Given the description of an element on the screen output the (x, y) to click on. 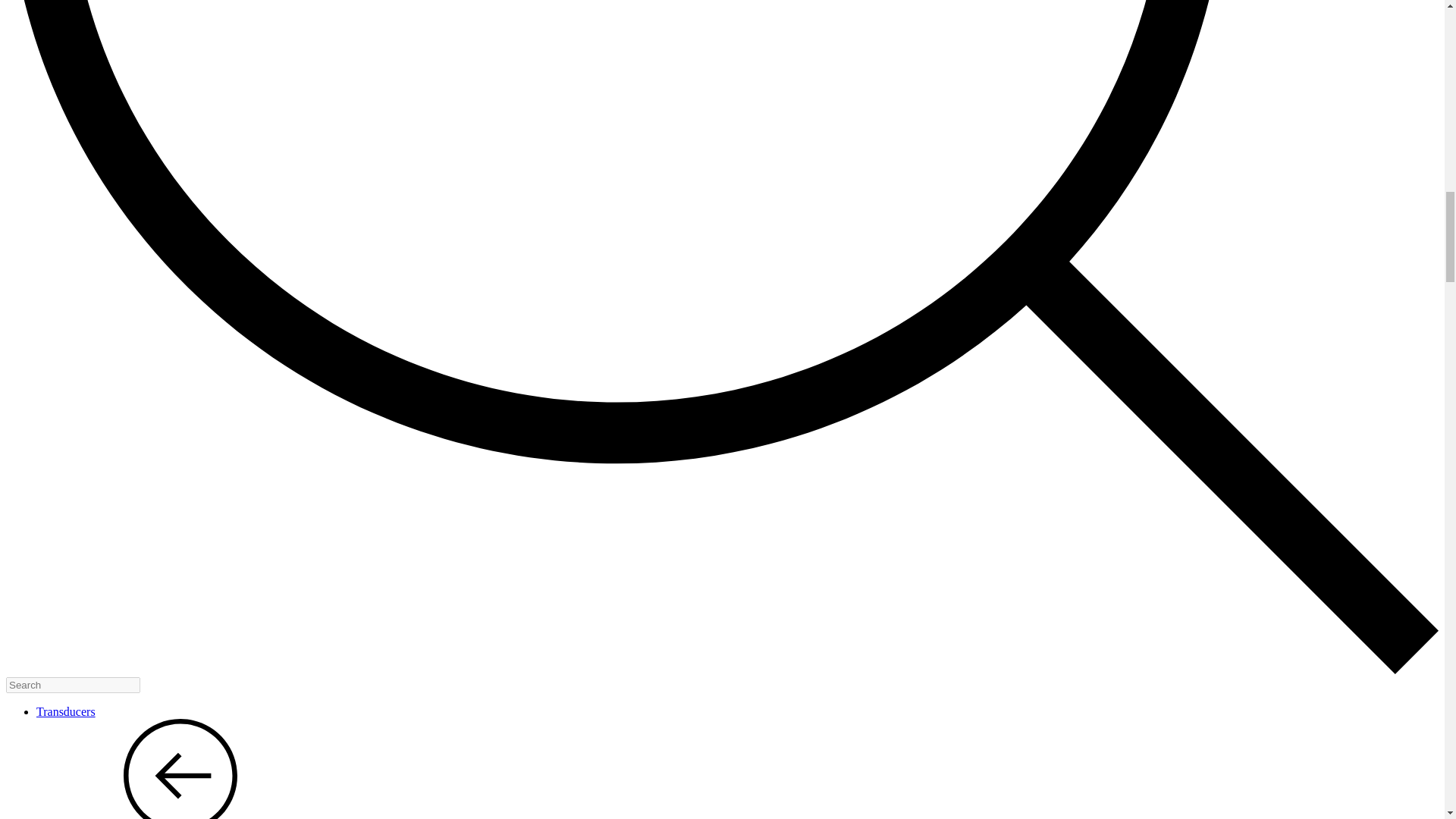
Transducers (66, 711)
